Given the description of an element on the screen output the (x, y) to click on. 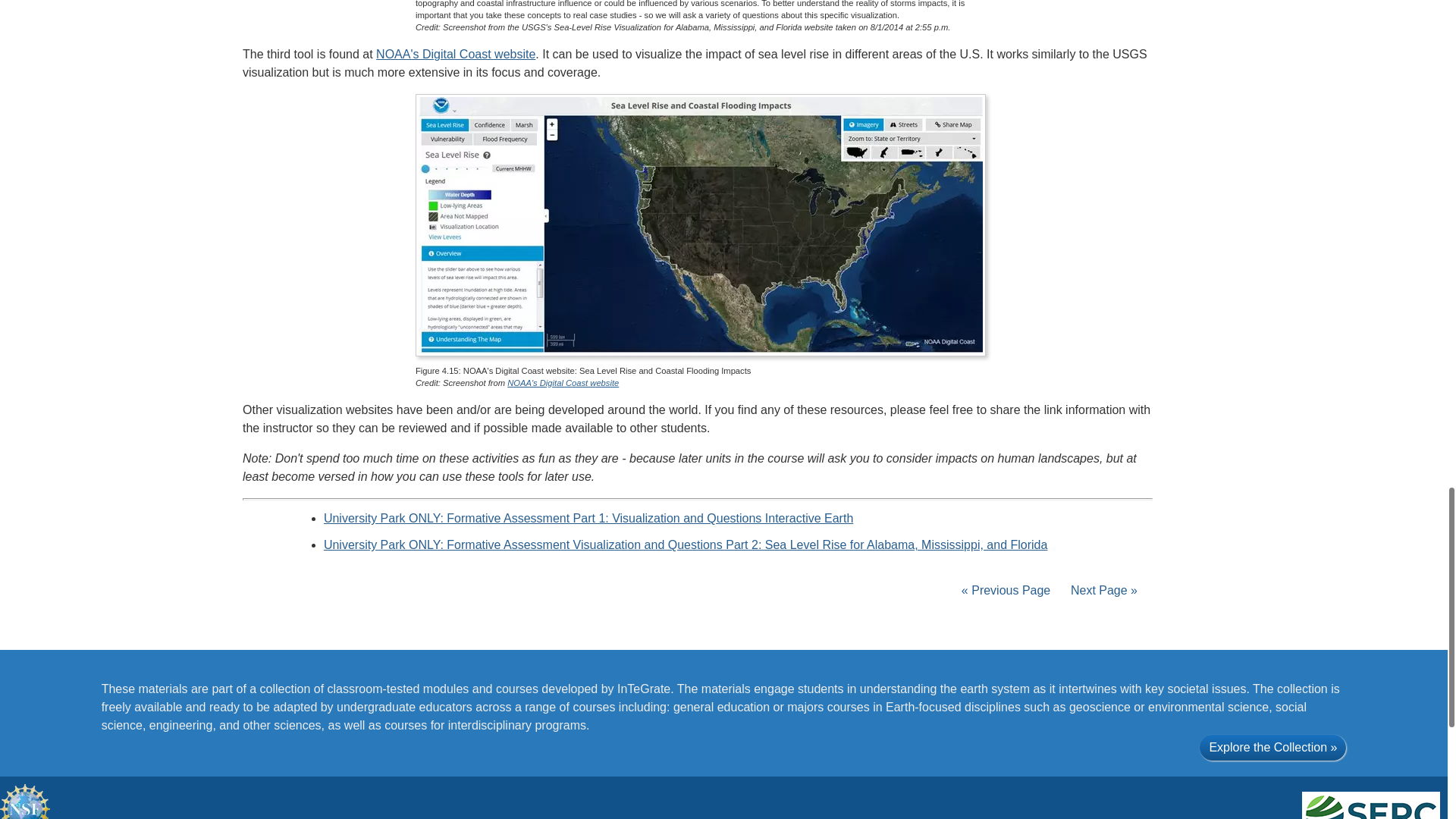
NOAA's Digital Coast website (562, 382)
NOAA's Digital Coast website (455, 53)
